Given the description of an element on the screen output the (x, y) to click on. 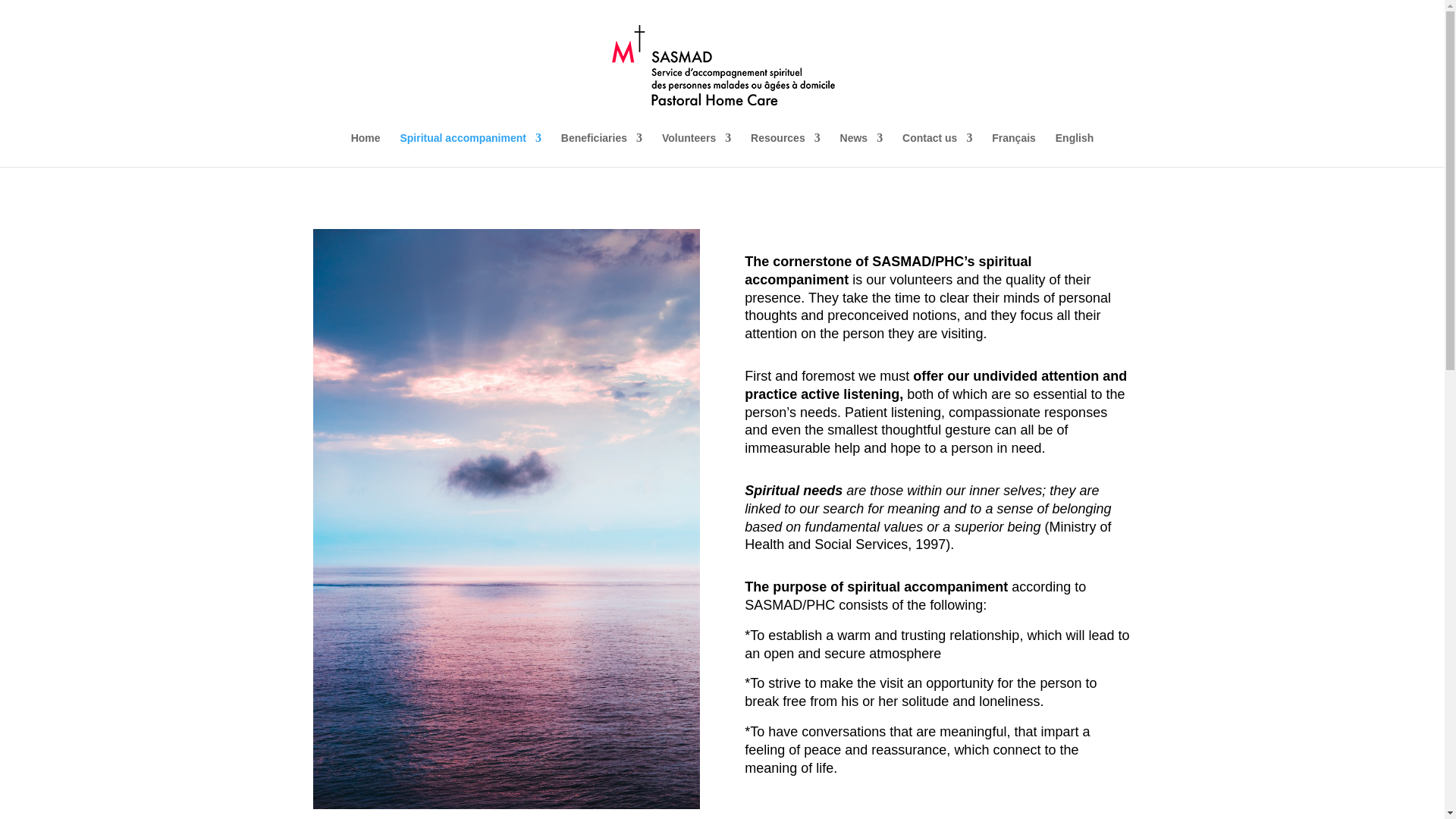
Contact us (937, 149)
English (1074, 149)
Spiritual accompaniment (469, 149)
Resources (786, 149)
News (861, 149)
Beneficiaries (601, 149)
Volunteers (696, 149)
